Given the description of an element on the screen output the (x, y) to click on. 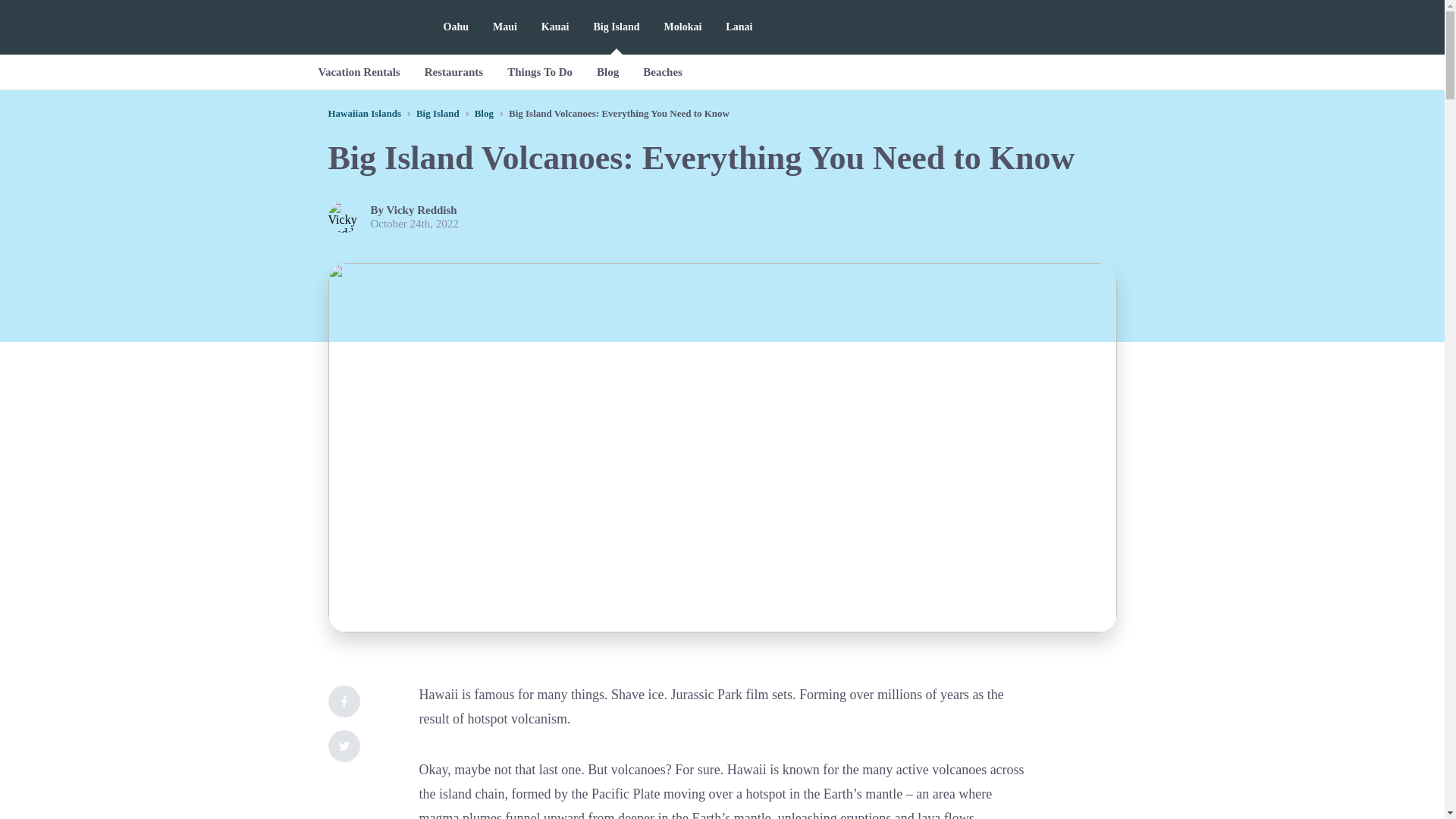
Things To Do (540, 71)
Beaches (662, 71)
Blog (483, 112)
Big Island (438, 112)
Vacation Rentals (358, 71)
Hawaiian Islands (363, 112)
Restaurants (454, 71)
Vicky Reddish (422, 209)
Blog (607, 71)
